Given the description of an element on the screen output the (x, y) to click on. 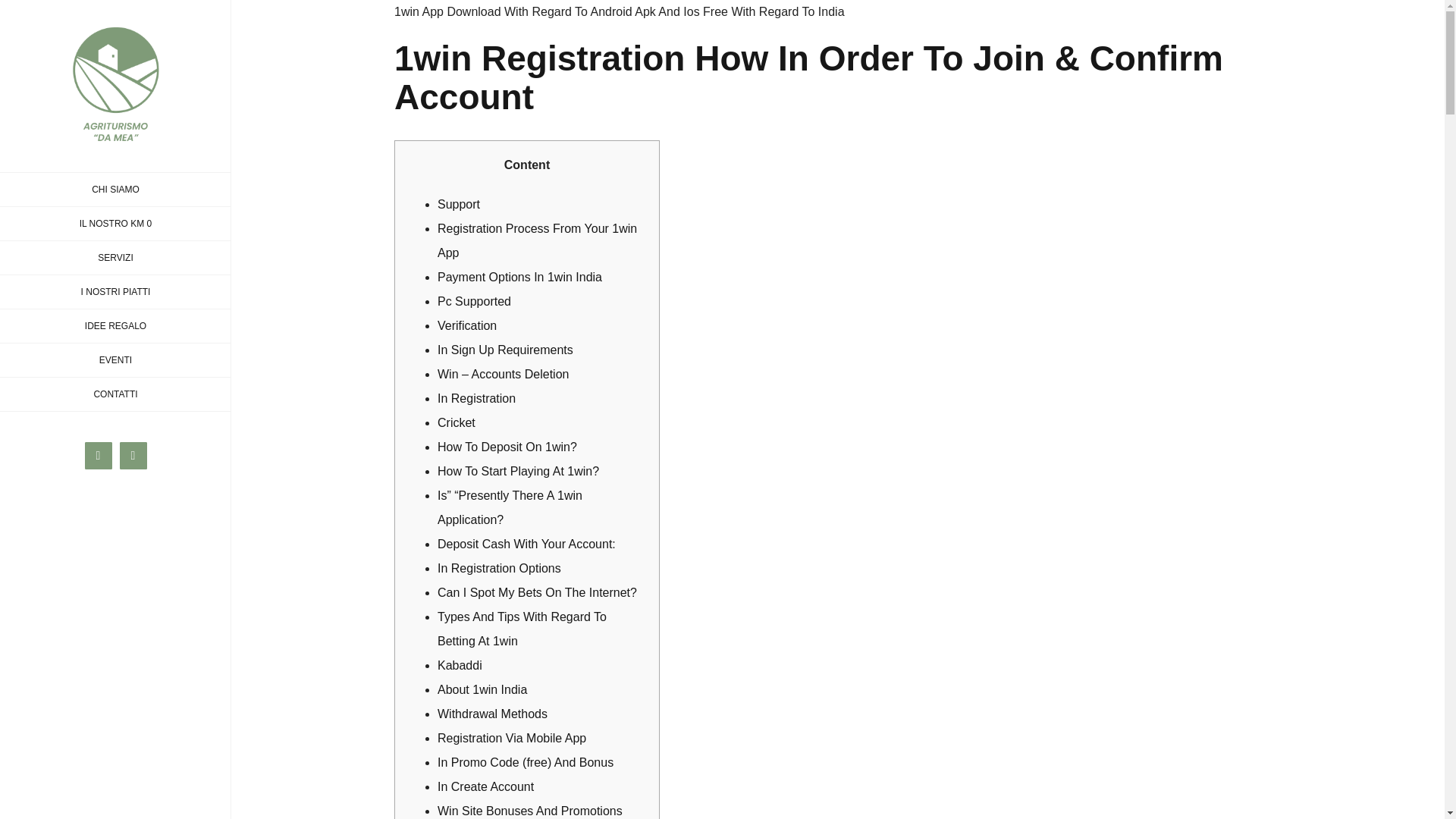
Can I Spot My Bets On The Internet? (537, 592)
Kabaddi (459, 665)
Types And Tips With Regard To Betting At 1win (522, 628)
In Sign Up Requirements (505, 349)
SERVIZI (115, 257)
How To Deposit On 1win? (507, 446)
In Create Account (486, 786)
Win Site Bonuses And Promotions (530, 810)
Verification (467, 325)
IDEE REGALO (115, 326)
